Given the description of an element on the screen output the (x, y) to click on. 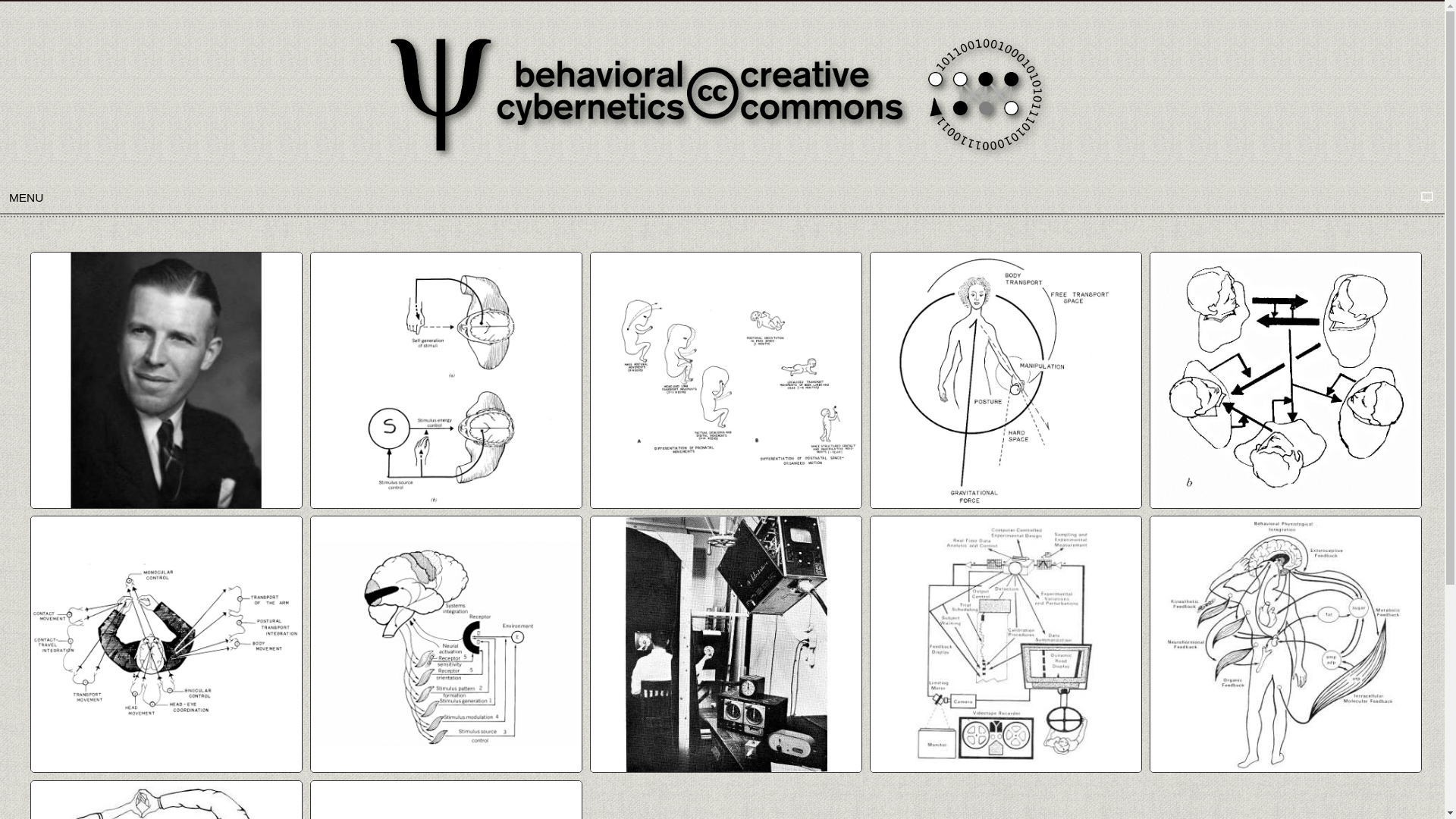
slide10.jpg Element type: hover (1005, 643)
slide8.jpg Element type: hover (445, 643)
slide2.jpg Element type: hover (445, 380)
slide6.jpg Element type: hover (725, 643)
slide1.jpg Element type: hover (166, 380)
slide12.jpg Element type: hover (1285, 643)
slide9.jpg Element type: hover (166, 643)
slide5.jpg Element type: hover (1005, 380)
slide4.jpg Element type: hover (725, 380)
slide7.jpg Element type: hover (1285, 380)
